Given the description of an element on the screen output the (x, y) to click on. 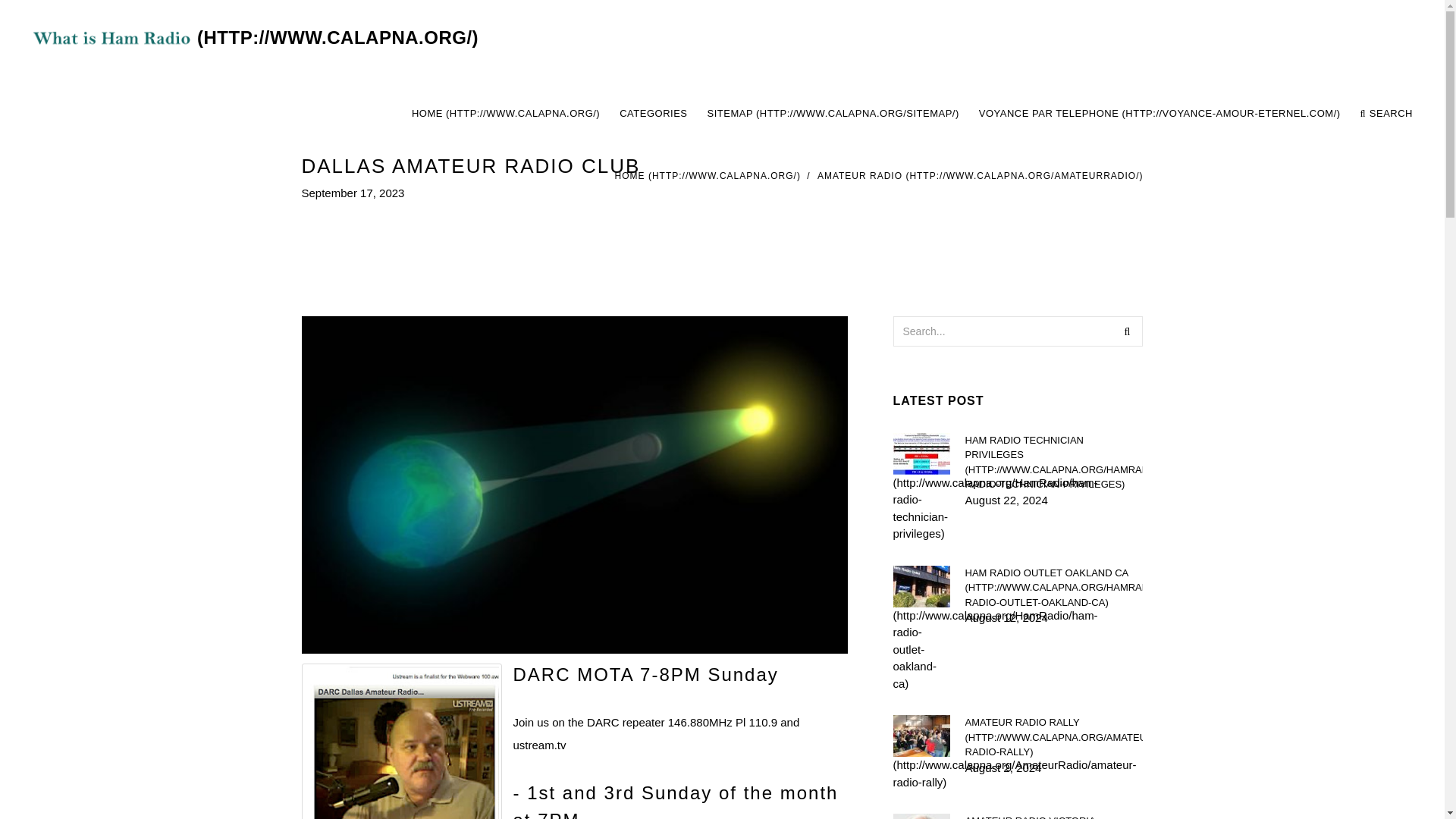
AMATEUR RADIO VICTORIA (1052, 816)
VOYANCE PAR TELEPHONE (1159, 113)
AMATEUR RADIO RALLY (1052, 737)
What is Ham Radio (251, 38)
HAM RADIO TECHNICIAN PRIVILEGES (1052, 461)
Randy (401, 741)
SEARCH (1386, 113)
HOME (505, 113)
Search (1126, 330)
HOME (707, 175)
